Given the description of an element on the screen output the (x, y) to click on. 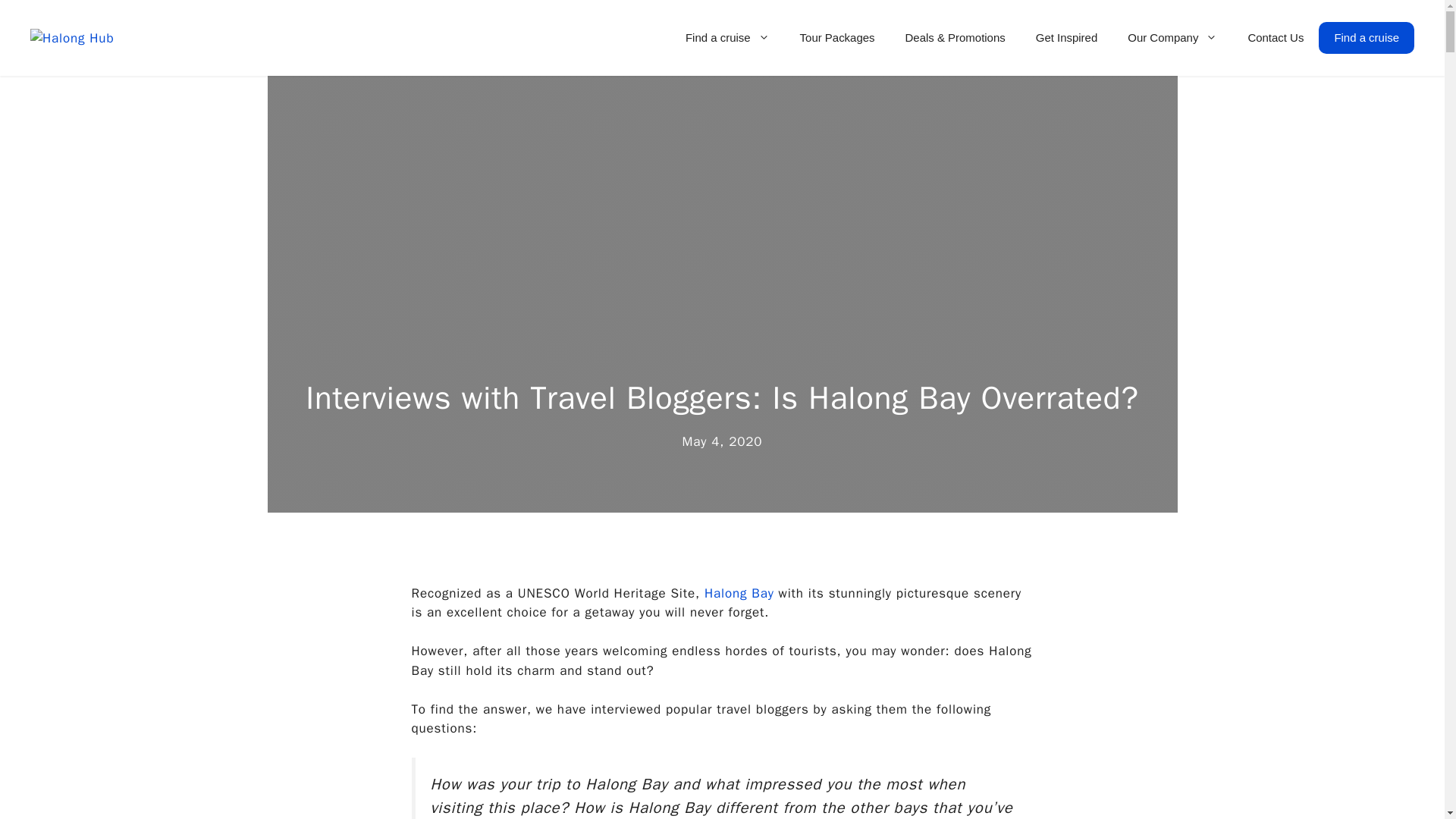
Our Company (1171, 37)
Find a cruise (726, 37)
Contact Us (1275, 37)
Get Inspired (1066, 37)
Tour Packages (836, 37)
Find a cruise (1366, 38)
